Given the description of an element on the screen output the (x, y) to click on. 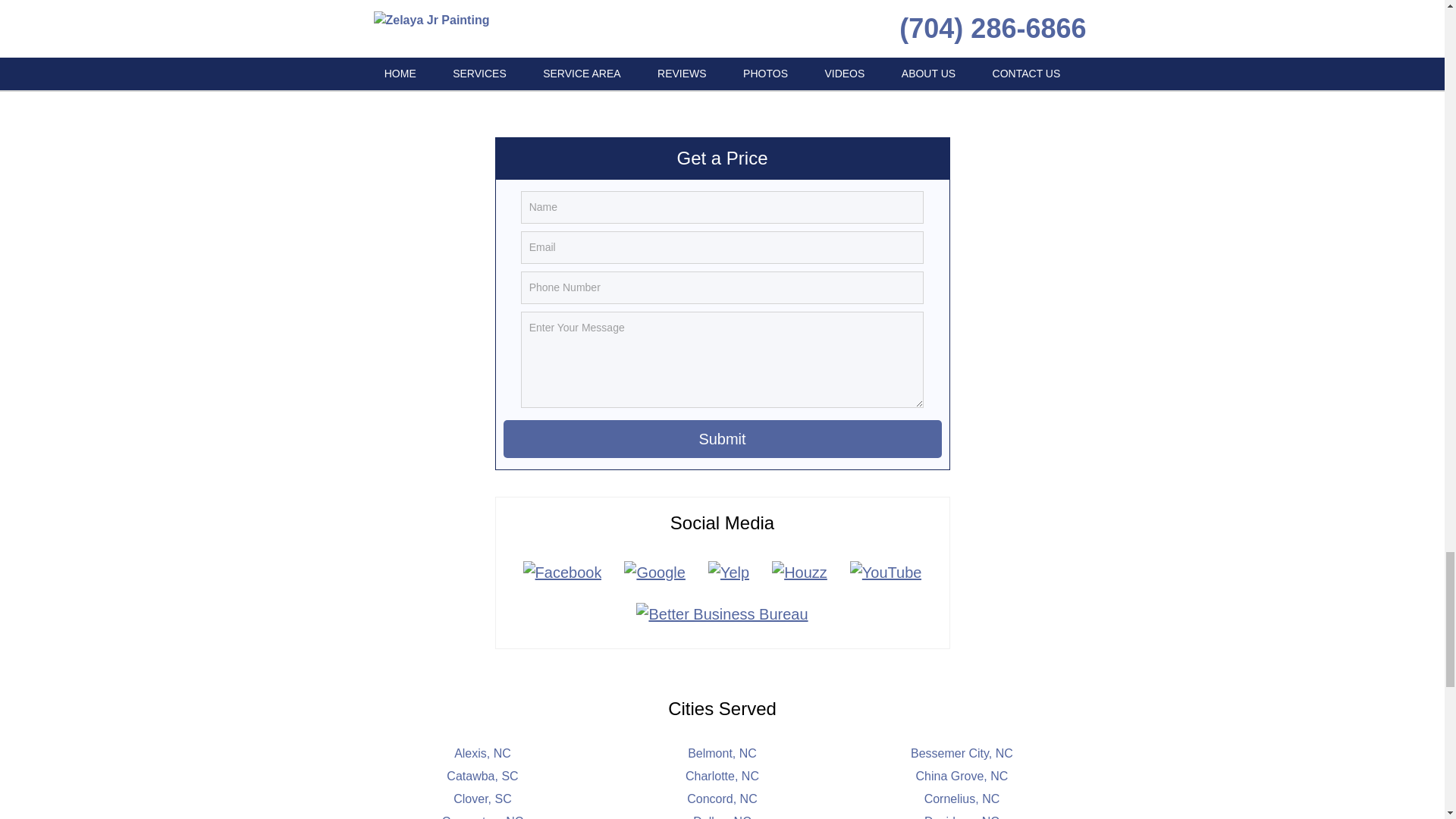
Houzz (799, 572)
Better Business Bureau (721, 614)
Google (654, 572)
Facebook (562, 572)
YouTube (885, 572)
Yelp (728, 572)
